Given the description of an element on the screen output the (x, y) to click on. 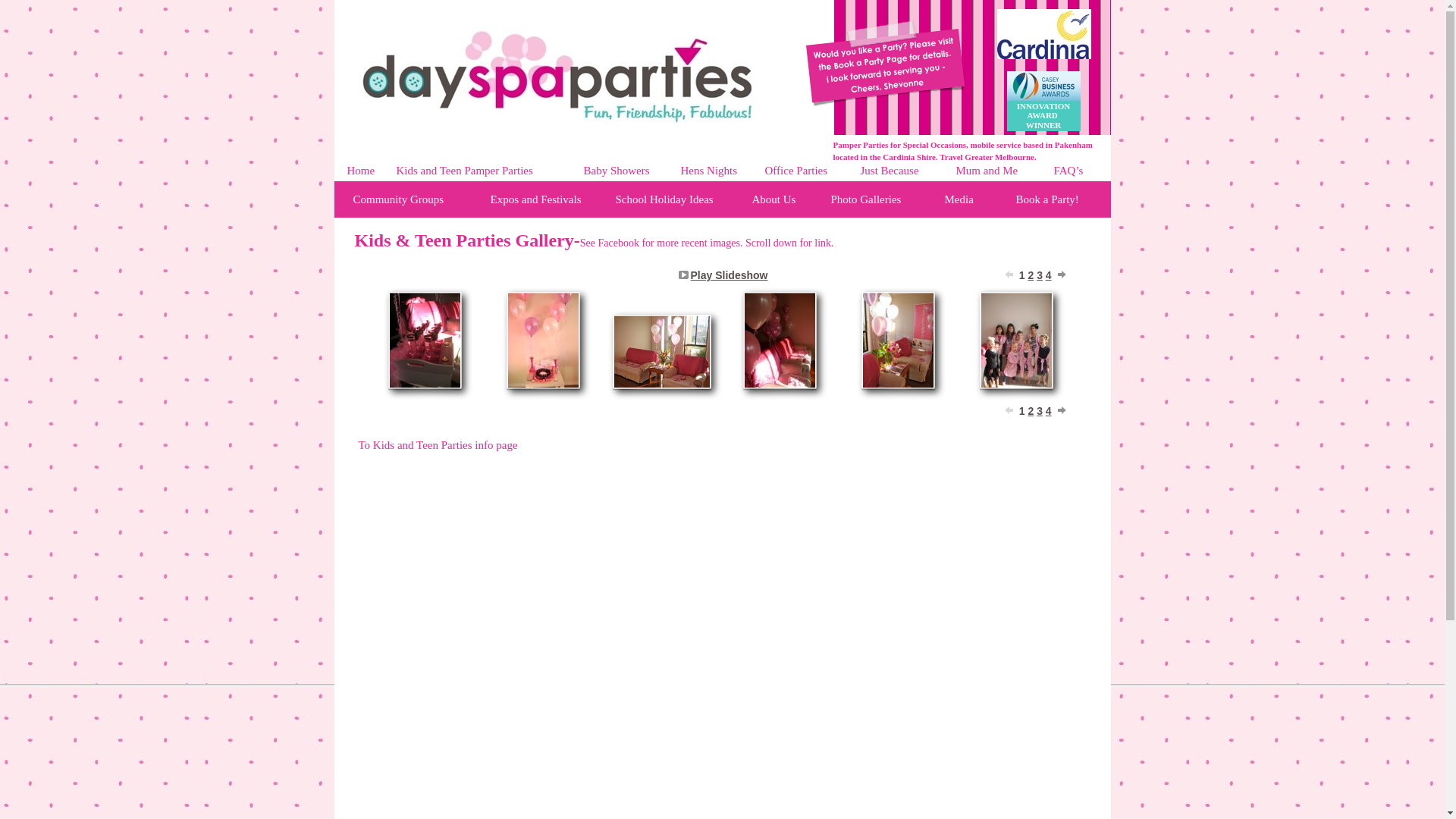
Just Because Element type: text (888, 170)
2 Element type: text (1030, 410)
Expos and Festivals Element type: text (534, 199)
Home Element type: text (361, 170)
Baby Showers Element type: text (616, 170)
4 Element type: text (1048, 275)
To Kids and Teen Parties info page Element type: text (437, 445)
2 Element type: text (1030, 275)
Community Groups Element type: text (398, 199)
Book a Party! Element type: text (1047, 199)
School Holiday Ideas Element type: text (664, 199)
Hens Nights Element type: text (708, 170)
Mum and Me Element type: text (986, 170)
Photo Galleries Element type: text (866, 199)
3 Element type: text (1039, 275)
3 Element type: text (1039, 410)
Media Element type: text (958, 199)
Home.html Element type: hover (559, 123)
Play Slideshow Element type: text (729, 275)
Office Parties Element type: text (795, 170)
Kids and Teen Pamper Parties Element type: text (463, 170)
About Us Element type: text (774, 199)
4 Element type: text (1048, 410)
